Given the description of an element on the screen output the (x, y) to click on. 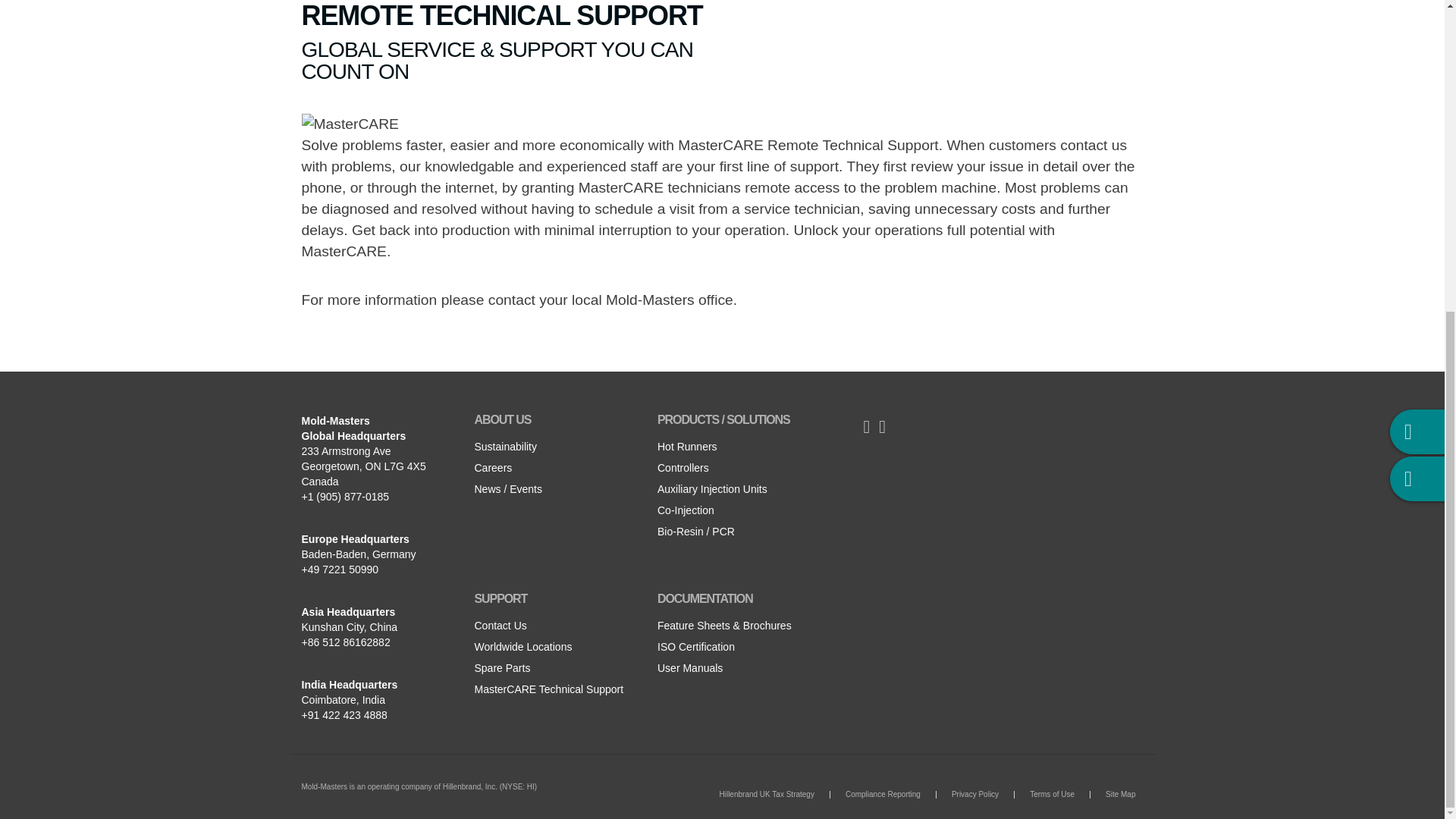
Hillenbrand UK Tax Strategy 2023 (766, 794)
